Given the description of an element on the screen output the (x, y) to click on. 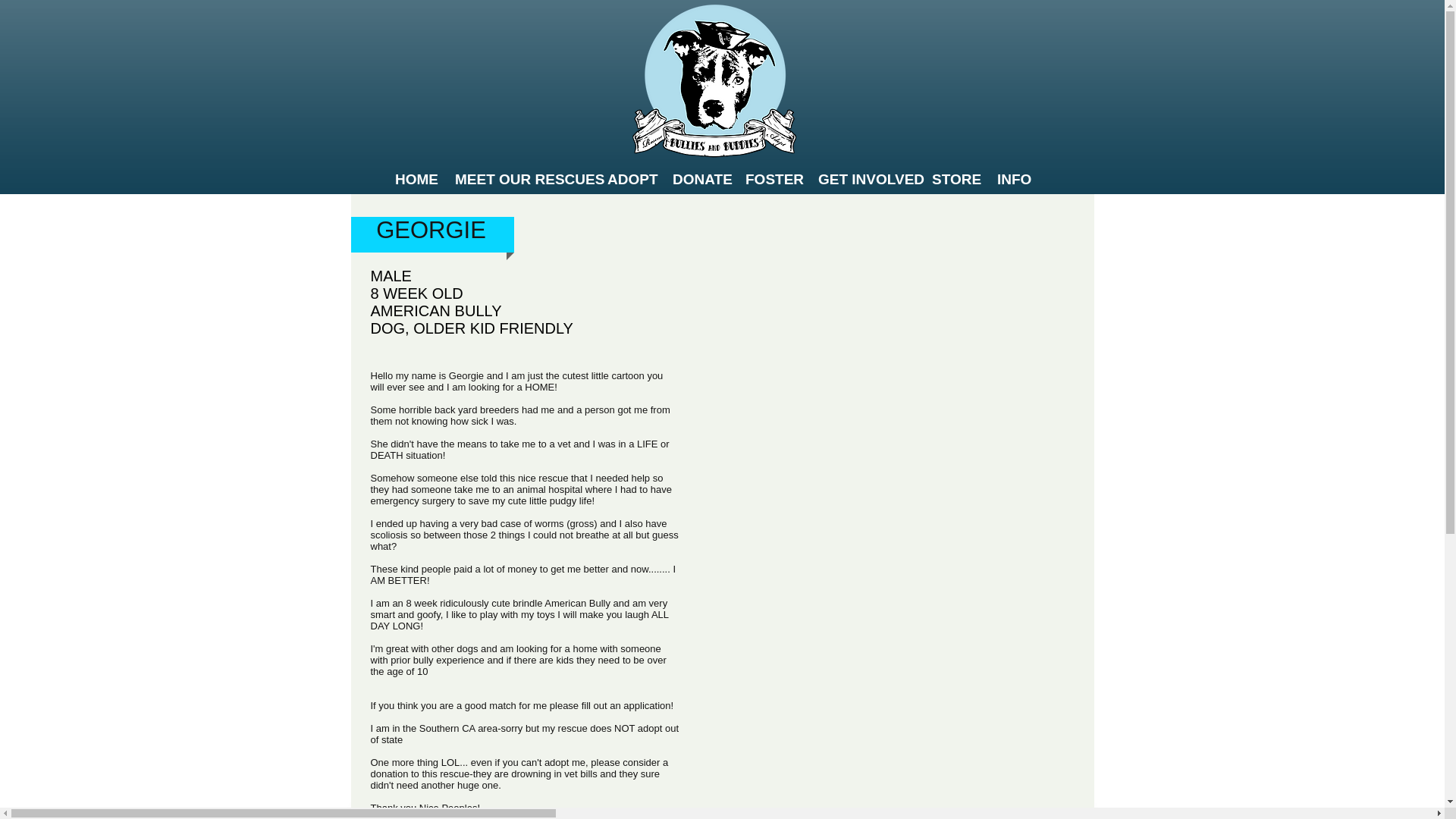
MEET OUR RESCUES (519, 175)
INFO (1011, 175)
GET INVOLVED (863, 175)
HOME (414, 175)
ADOPT (628, 175)
FOSTER (769, 175)
DONATE (697, 175)
STORE (952, 175)
